Given the description of an element on the screen output the (x, y) to click on. 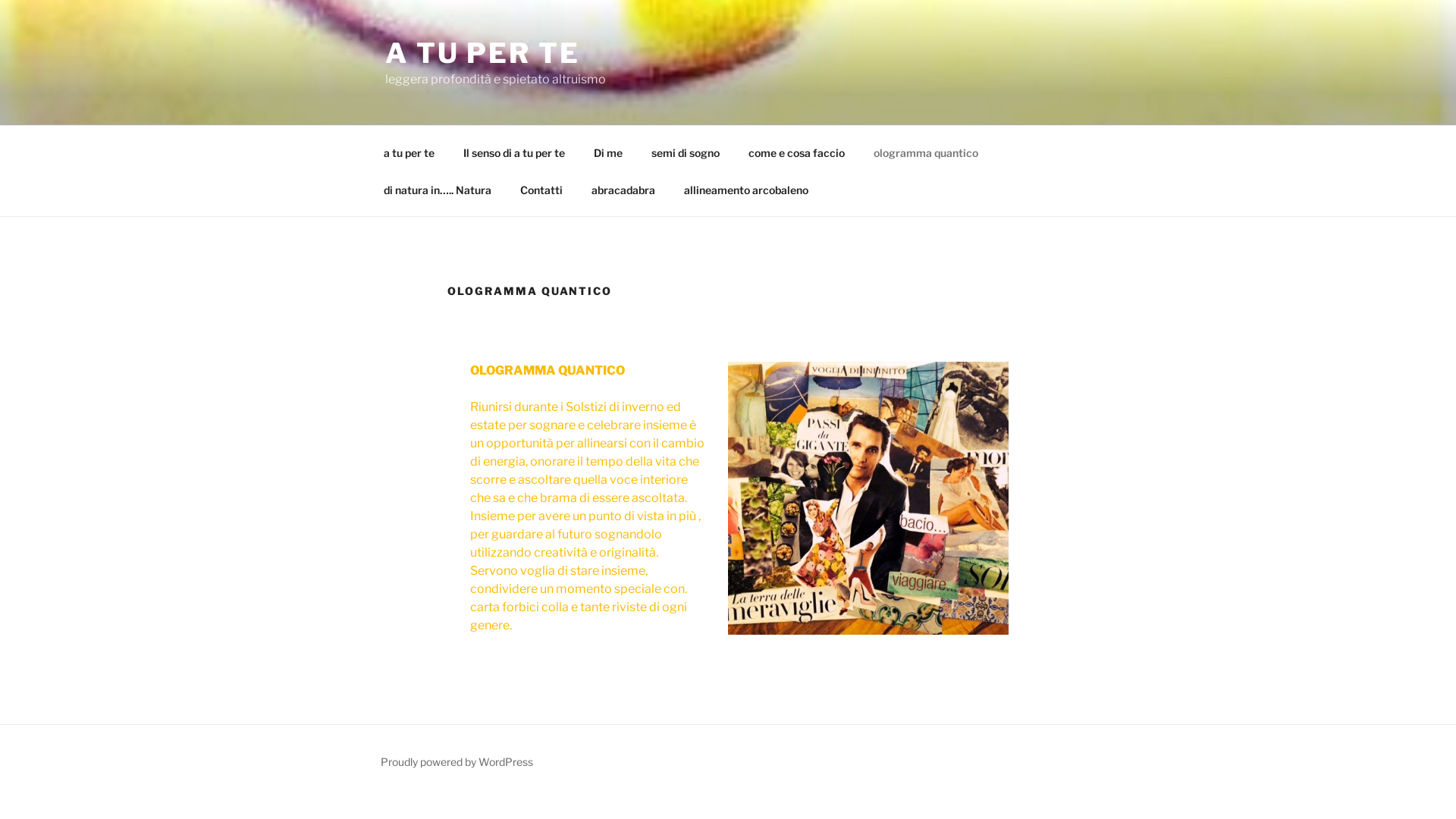
Proudly powered by WordPress Element type: text (456, 761)
Il senso di a tu per te Element type: text (513, 151)
A TU PER TE Element type: text (482, 52)
a tu per te Element type: text (408, 151)
Contatti Element type: text (540, 189)
allineamento arcobaleno Element type: text (745, 189)
come e cosa faccio Element type: text (795, 151)
Di me Element type: text (607, 151)
semi di sogno Element type: text (684, 151)
abracadabra Element type: text (622, 189)
ologramma quantico Element type: text (925, 151)
